Given the description of an element on the screen output the (x, y) to click on. 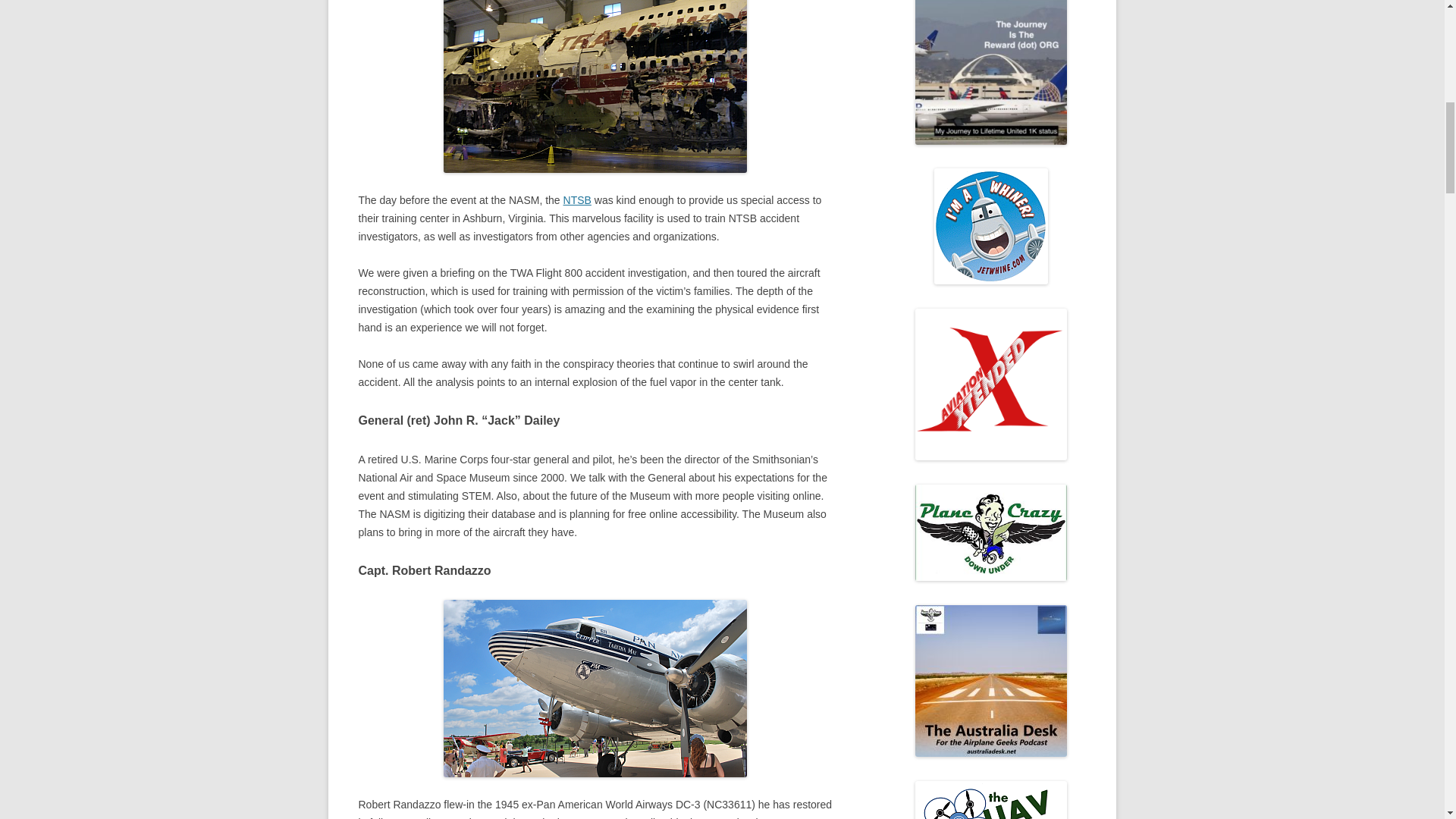
NTSB (577, 200)
